Given the description of an element on the screen output the (x, y) to click on. 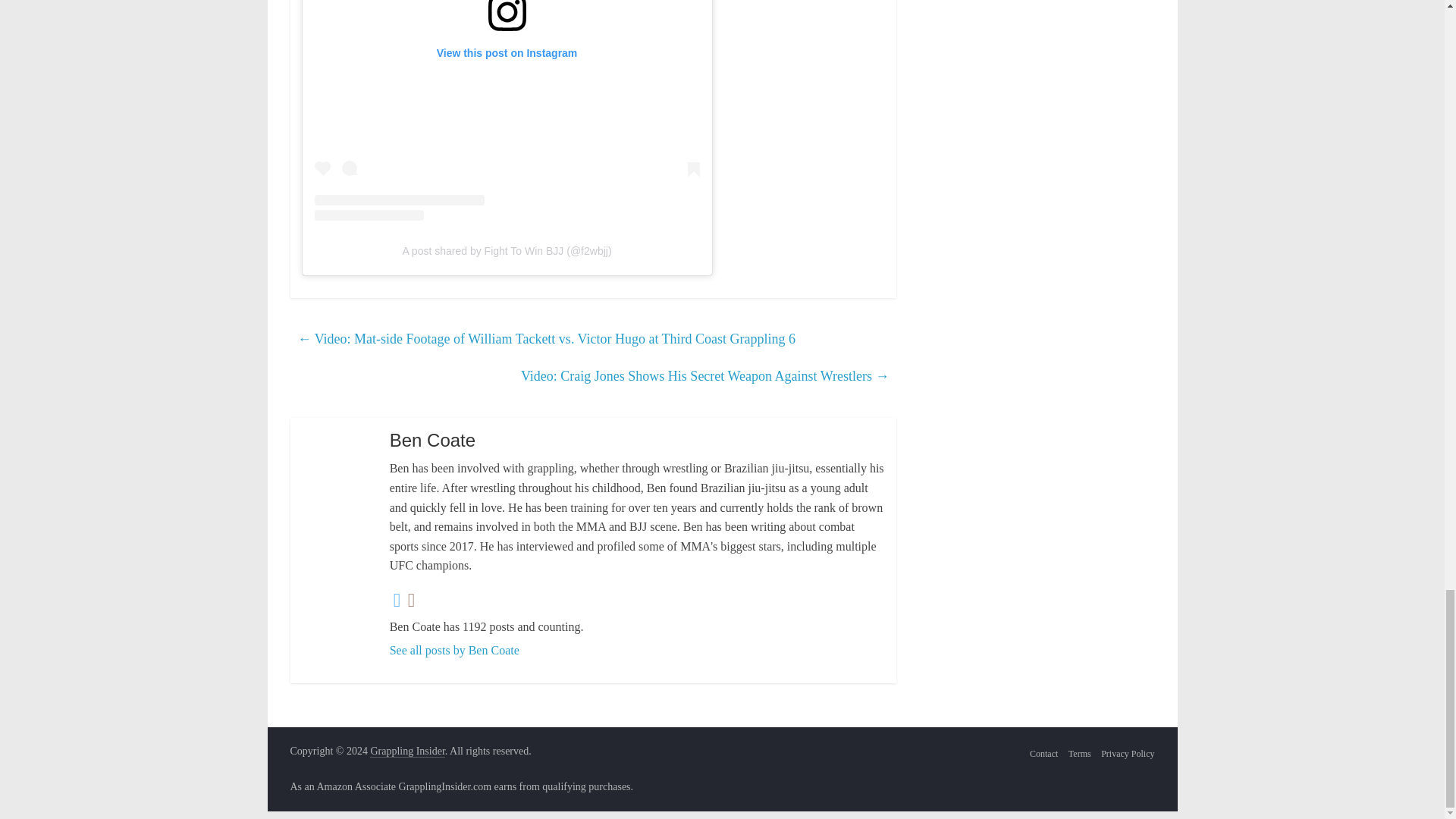
View this post on Instagram (506, 110)
Grappling Insider (406, 751)
